Given the description of an element on the screen output the (x, y) to click on. 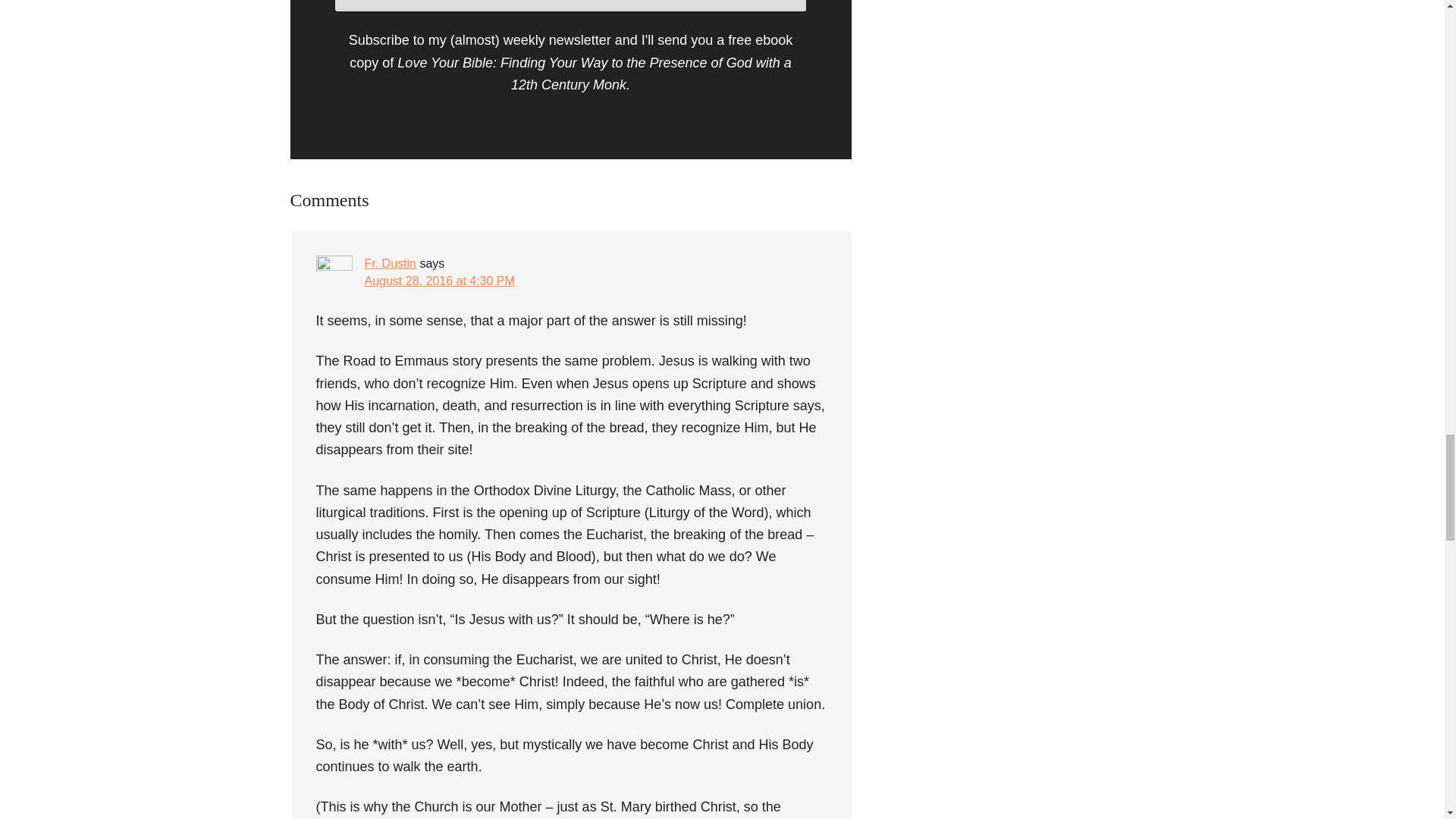
Yes! I want a prayerful approach to the Bible! (570, 5)
